Given the description of an element on the screen output the (x, y) to click on. 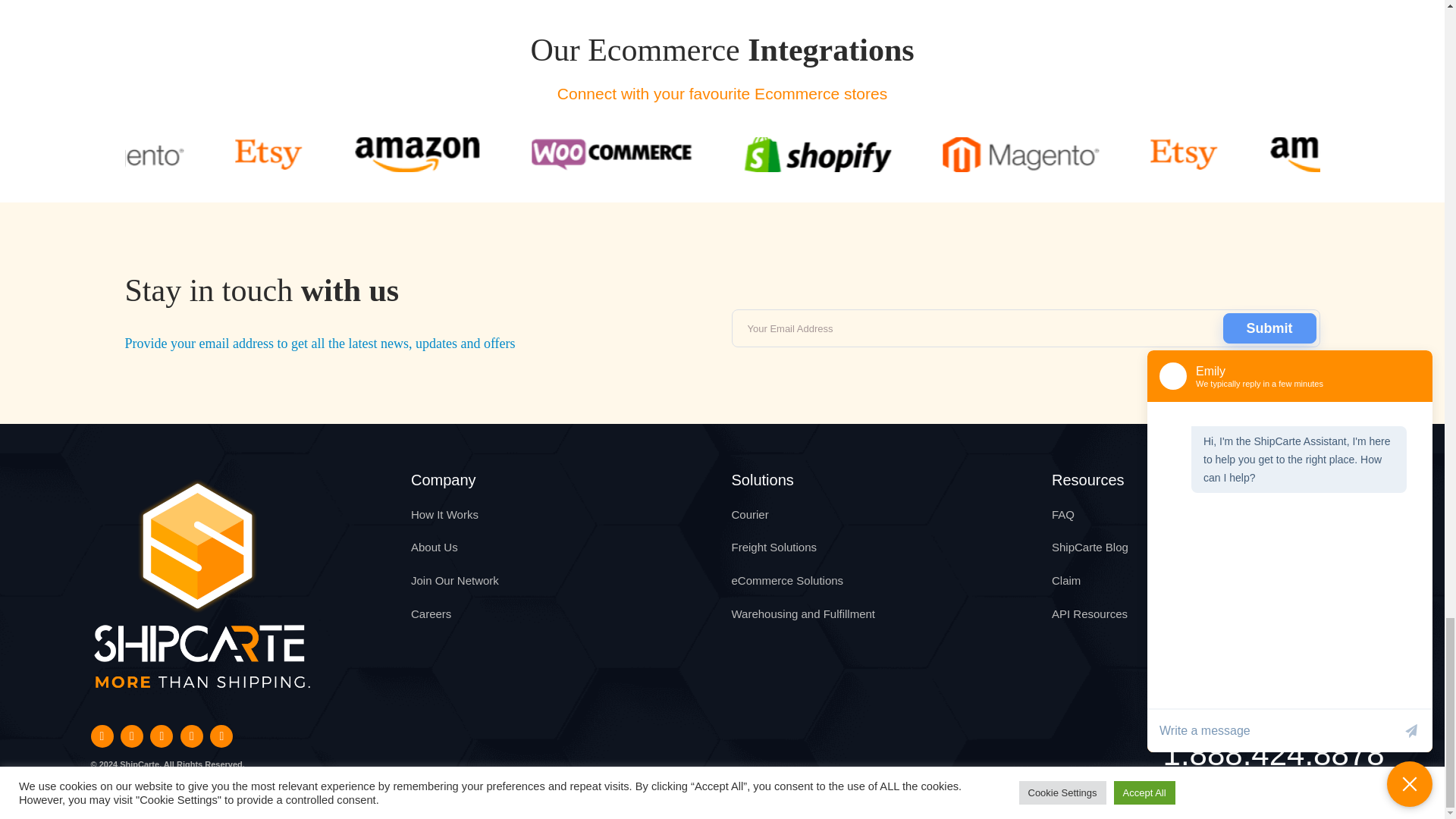
eCommerce Solutions (786, 580)
Warehousing and Fulfillment (802, 613)
Careers (430, 613)
Courier (749, 513)
How It Works (444, 513)
Join Our Network (454, 580)
About Us (434, 546)
Submit (1269, 327)
Submit (1269, 327)
Freight Solutions (773, 546)
